Given the description of an element on the screen output the (x, y) to click on. 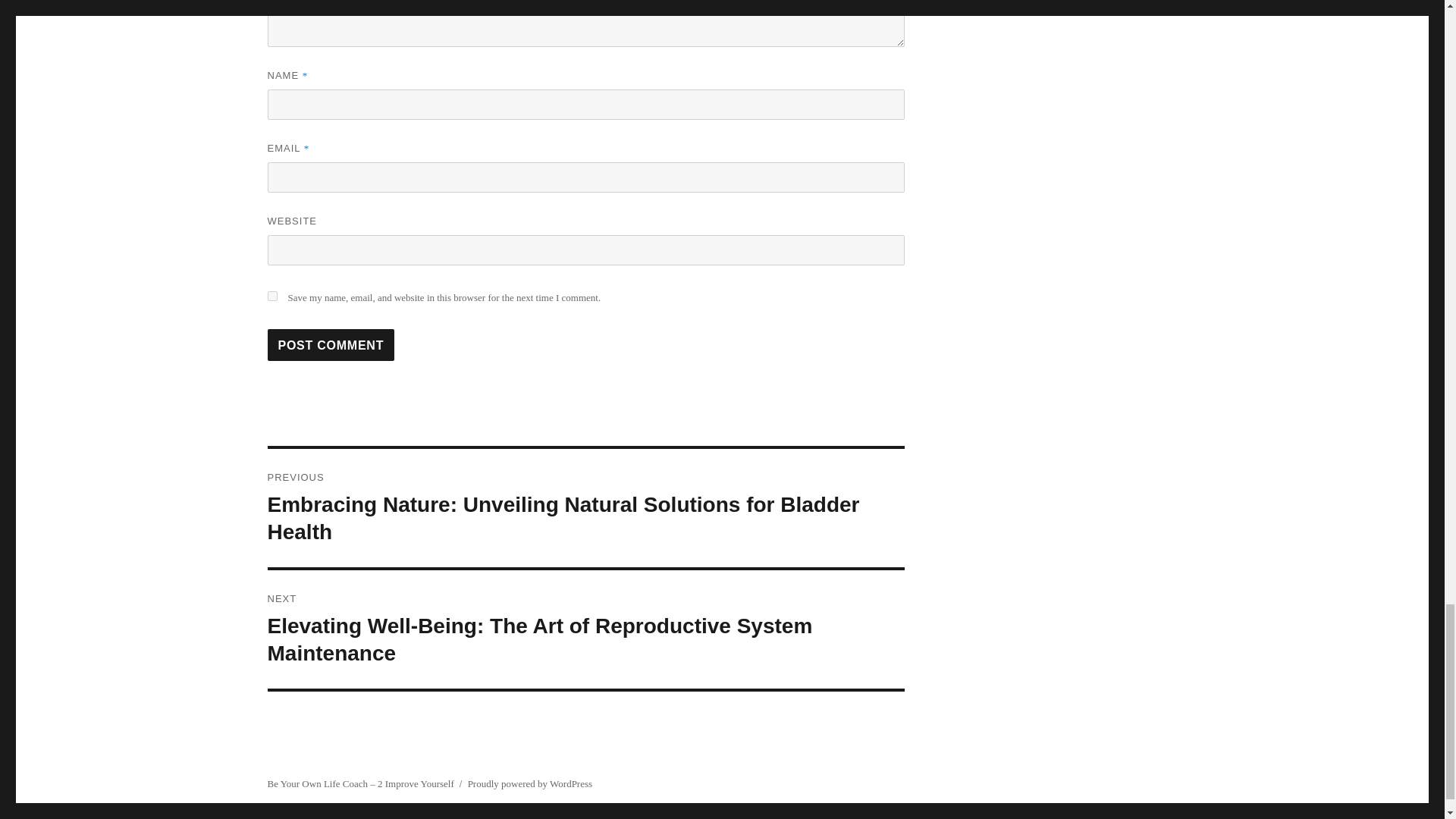
Post Comment (330, 345)
yes (271, 296)
Post Comment (330, 345)
